Given the description of an element on the screen output the (x, y) to click on. 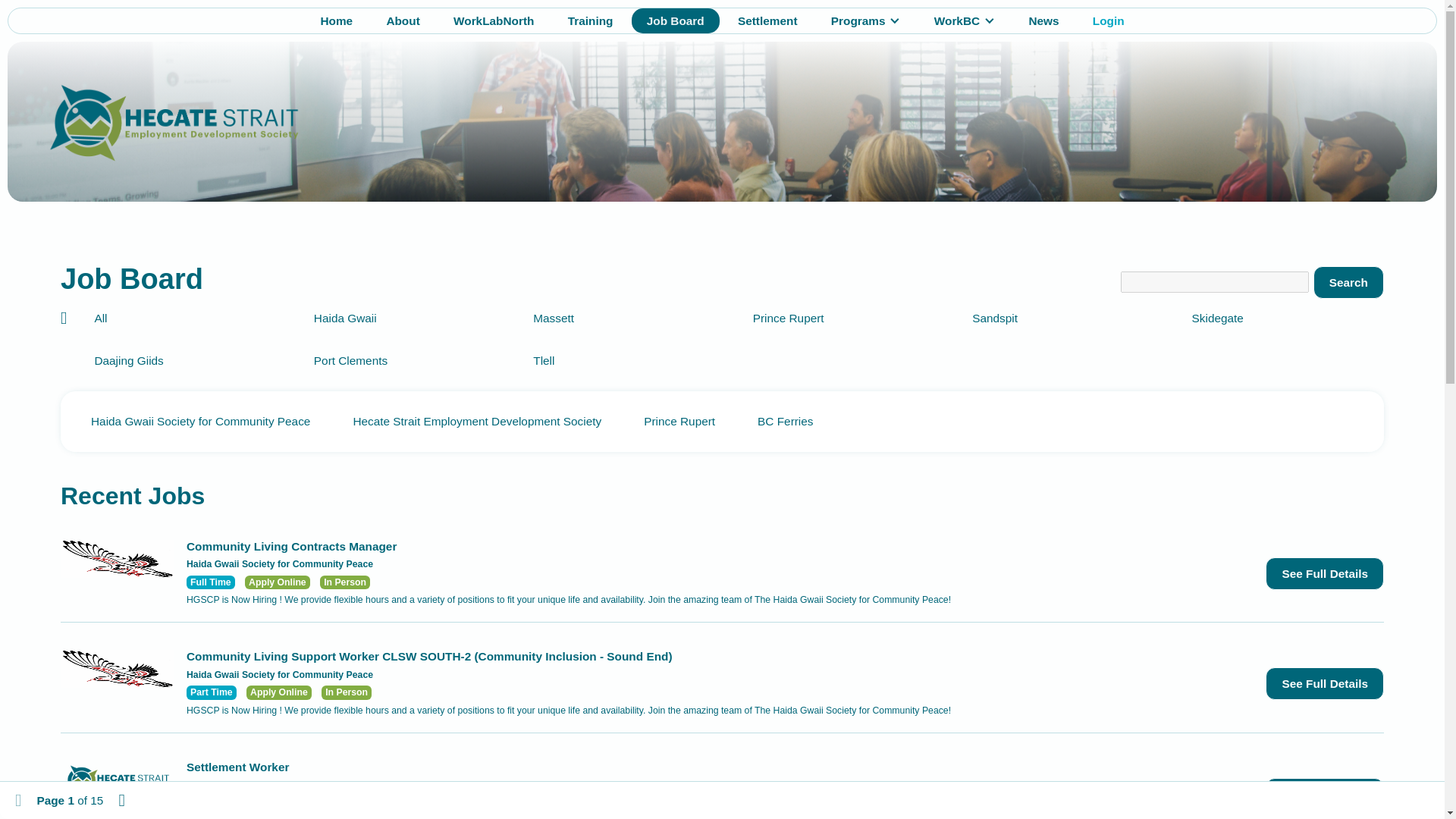
Haida Gwaii (401, 318)
Training (590, 20)
BC Ferries (785, 421)
See Full Details (1324, 573)
Port Clements (401, 360)
Search (1348, 282)
Login (1108, 20)
WorkLabNorth (493, 20)
Job Board (675, 20)
See Full Details (1324, 683)
See Full Details (1324, 794)
About (402, 20)
Settlement (767, 20)
Massett (621, 318)
Prince Rupert (679, 421)
